Given the description of an element on the screen output the (x, y) to click on. 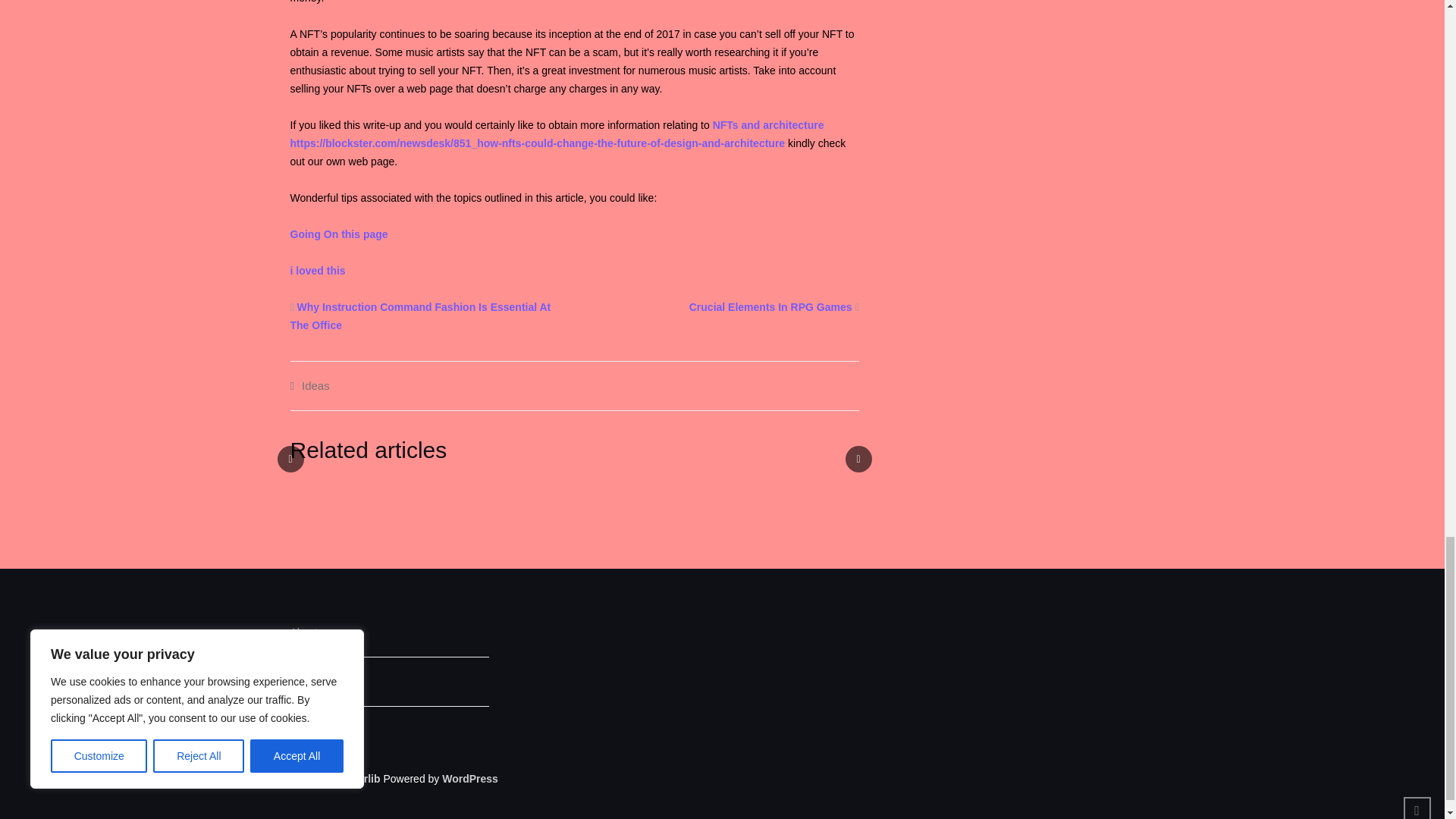
Colorlib (360, 778)
Why Instruction Command Fashion Is Essential At The Office (419, 316)
i loved this (317, 270)
Going On this page (338, 234)
Crucial Elements In RPG Games (769, 306)
WordPress.org (469, 778)
Ideas (315, 385)
